Given the description of an element on the screen output the (x, y) to click on. 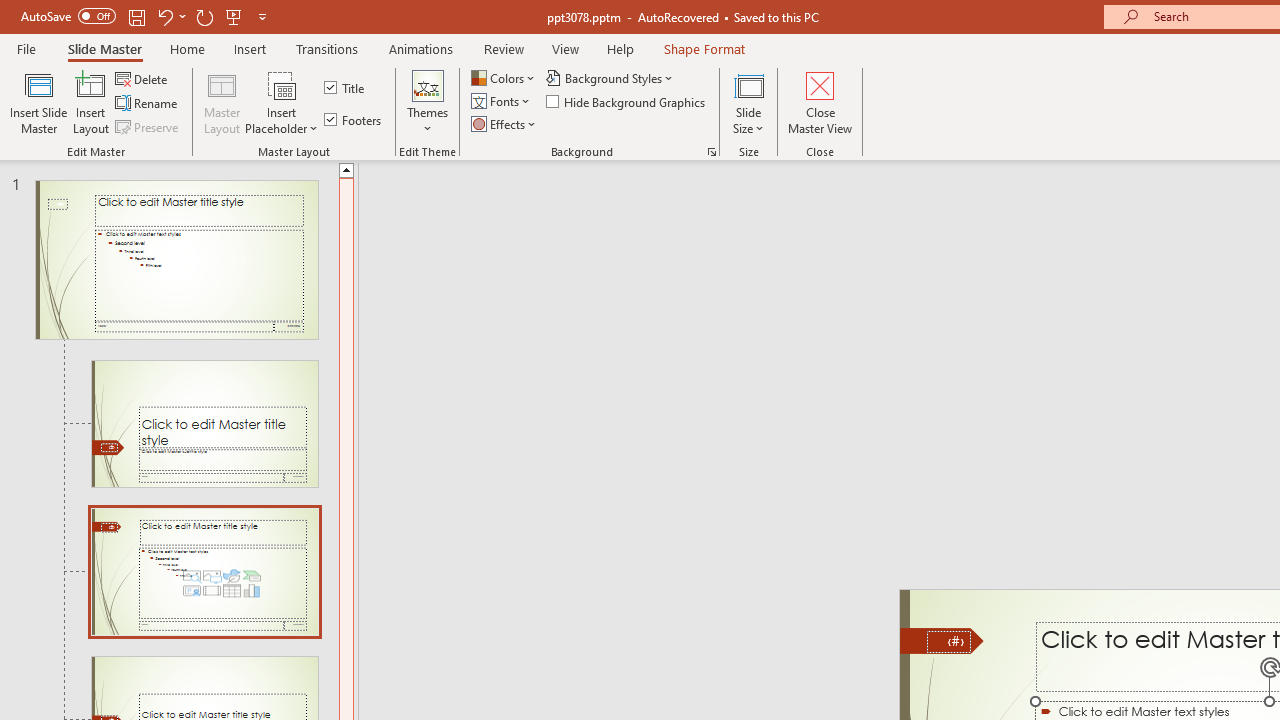
Freeform 11 (941, 640)
